Given the description of an element on the screen output the (x, y) to click on. 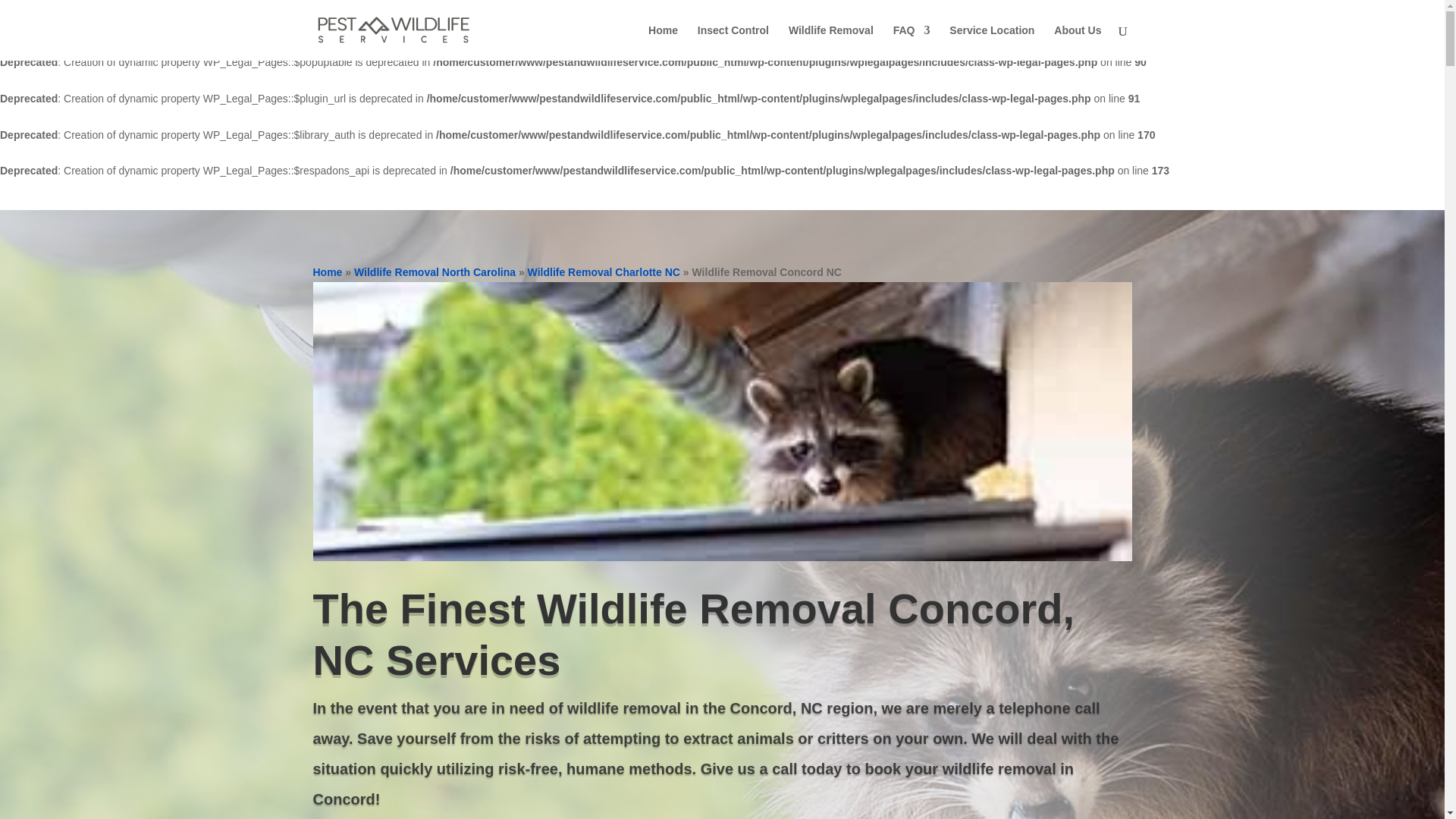
Wildlife Removal Charlotte NC (603, 272)
About Us (1077, 42)
Insect Control (732, 42)
FAQ (911, 42)
Home (327, 272)
Service Location (991, 42)
Wildlife Removal (831, 42)
Wildlife Removal North Carolina (434, 272)
